Given the description of an element on the screen output the (x, y) to click on. 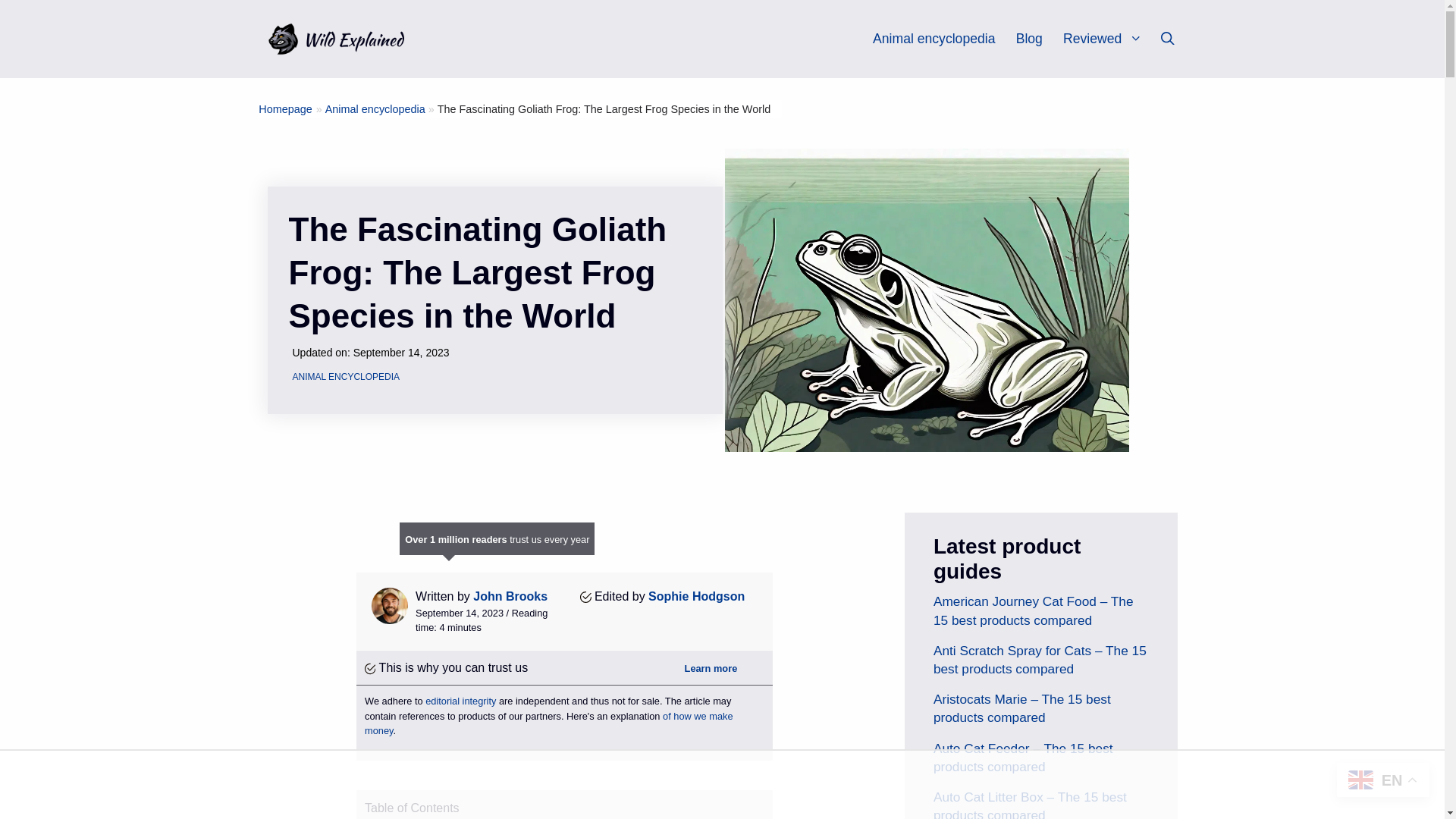
Reviewed (1108, 39)
Category Name (374, 109)
Author-Name (510, 595)
Animal encyclopedia (933, 39)
Author-Name (695, 595)
